Given the description of an element on the screen output the (x, y) to click on. 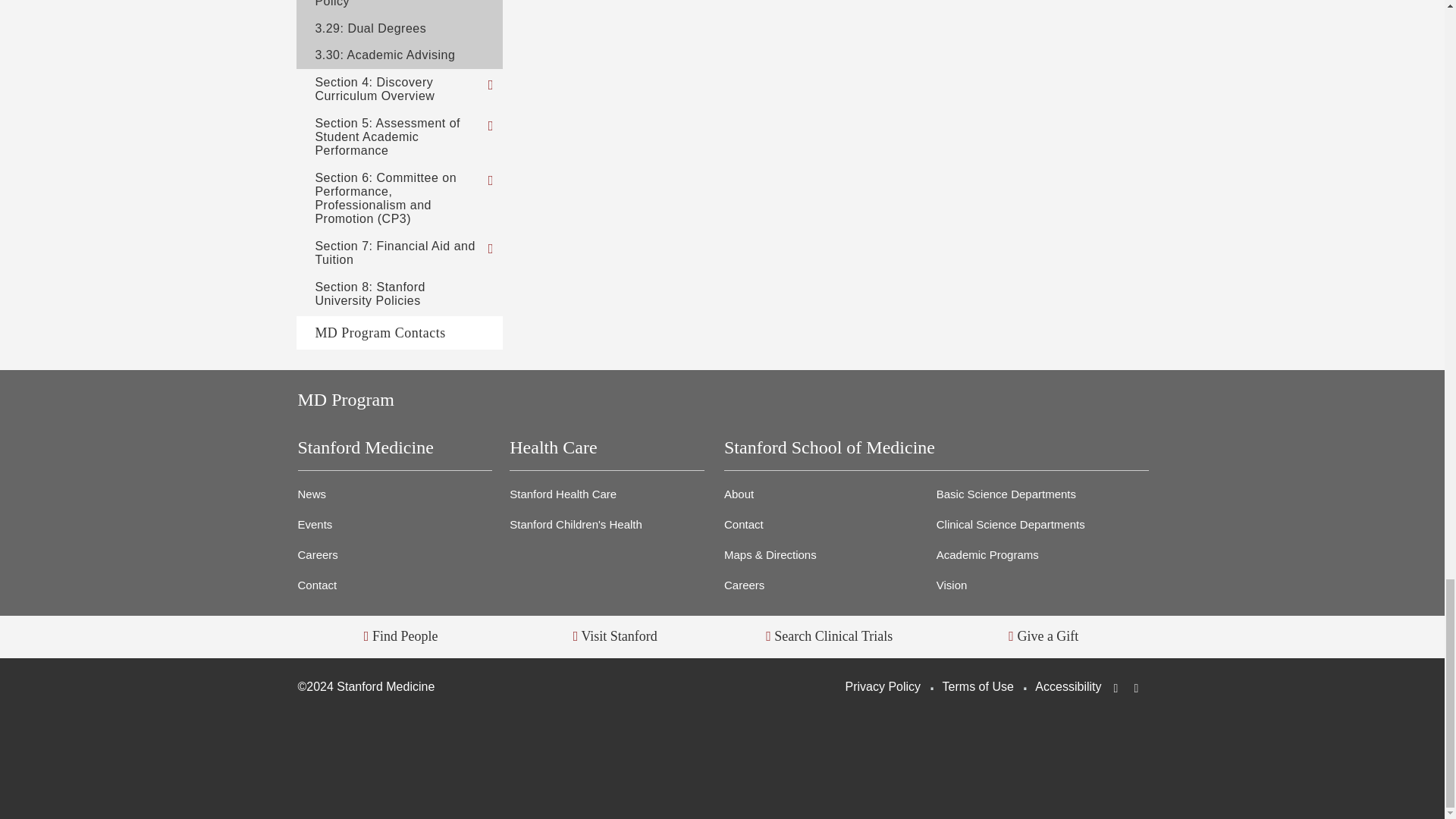
Stanford Children's Health (793, 750)
Stanford Medicine Partners (1076, 750)
Stanford Health Care (650, 750)
Stanford University (368, 746)
Stanford School of Medicine (509, 750)
Stanford Health Care Tri-Valley (934, 755)
